Given the description of an element on the screen output the (x, y) to click on. 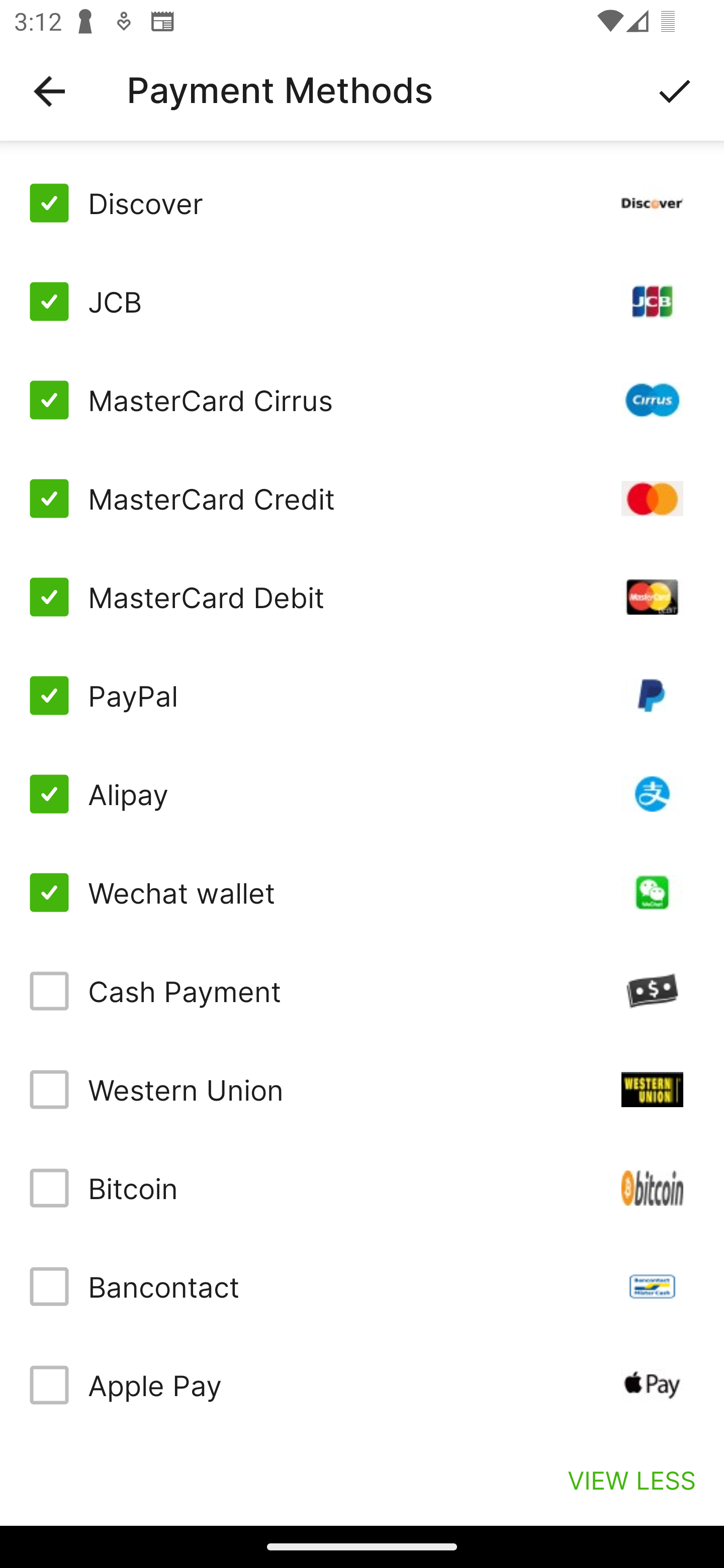
Discover (362, 202)
JCB (362, 301)
MasterCard Cirrus (362, 400)
MasterCard Credit (362, 498)
MasterCard Debit (362, 596)
PayPal (362, 695)
Alipay (362, 793)
Wechat wallet (362, 892)
Cash Payment (362, 990)
Western Union (362, 1088)
Bitcoin (362, 1187)
Bancontact (362, 1286)
Apple Pay (362, 1384)
VIEW LESS (631, 1479)
